Given the description of an element on the screen output the (x, y) to click on. 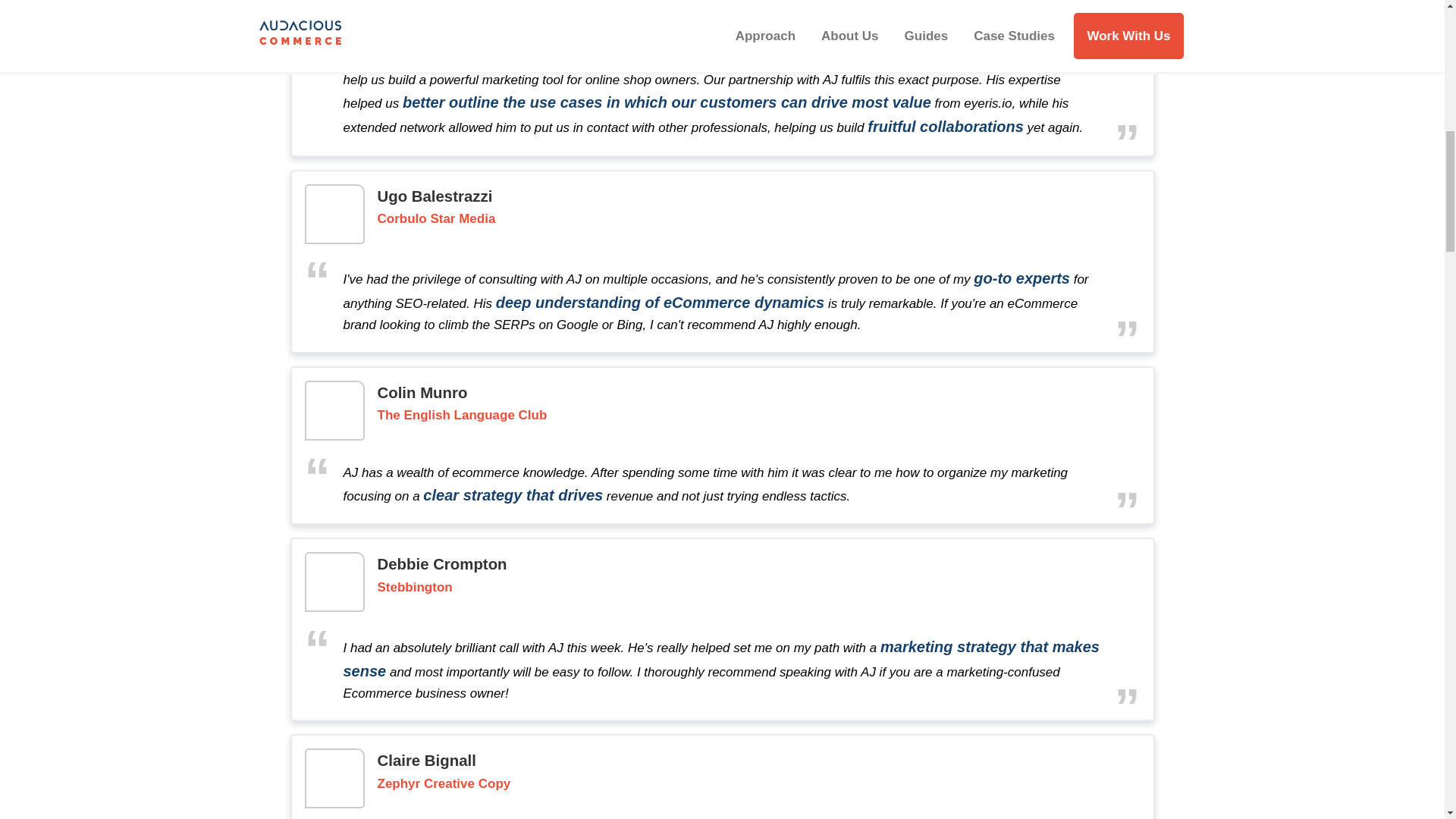
Stebbington (414, 587)
The English Language Club (462, 415)
Zephyr Creative Copy (444, 784)
eyeris.io (452, 3)
Corbulo Star Media (436, 219)
